Given the description of an element on the screen output the (x, y) to click on. 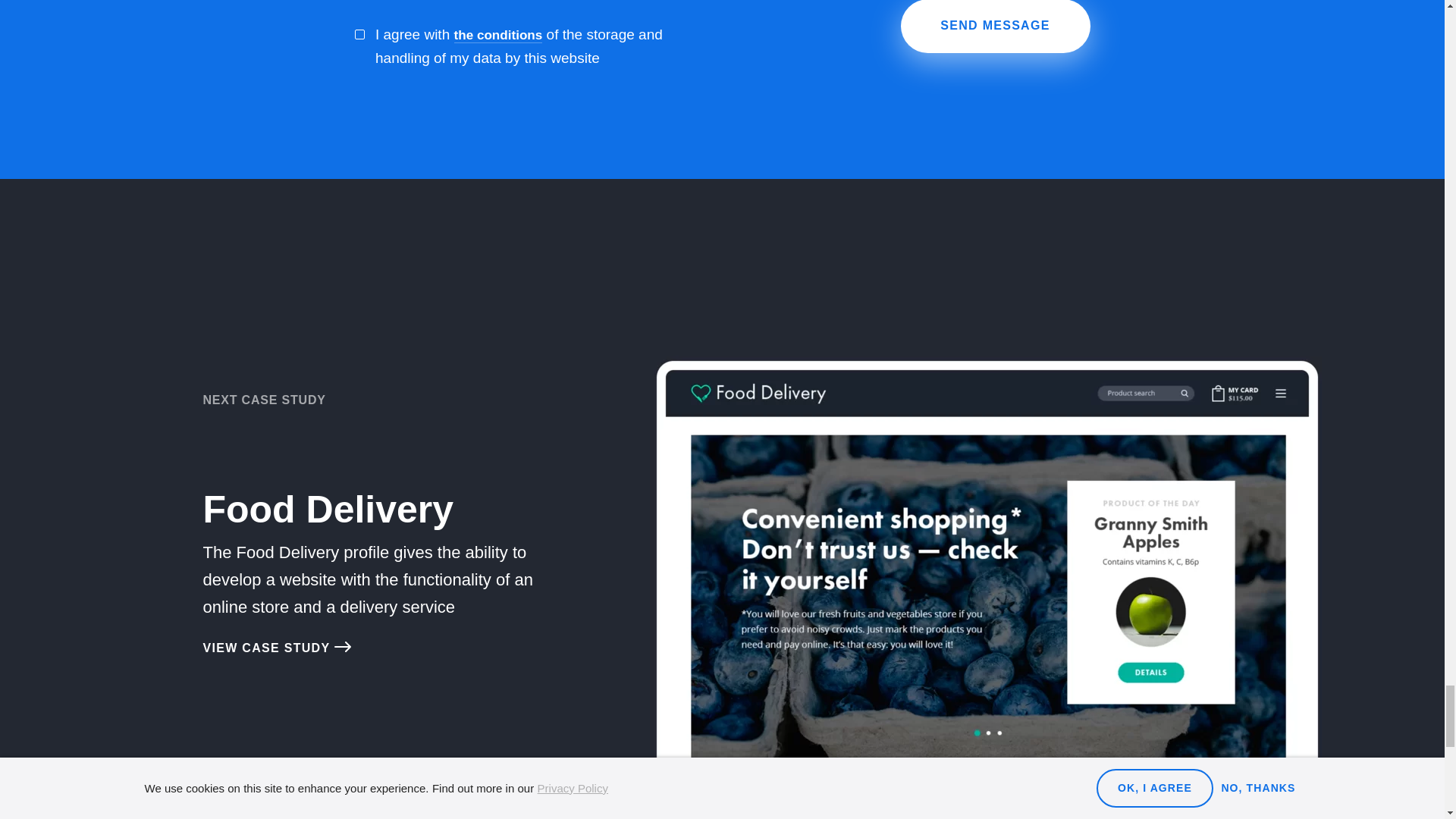
VIEW CASE STUDY (276, 647)
Food Delivery (327, 509)
the conditions (496, 35)
SEND MESSAGE (995, 26)
